Given the description of an element on the screen output the (x, y) to click on. 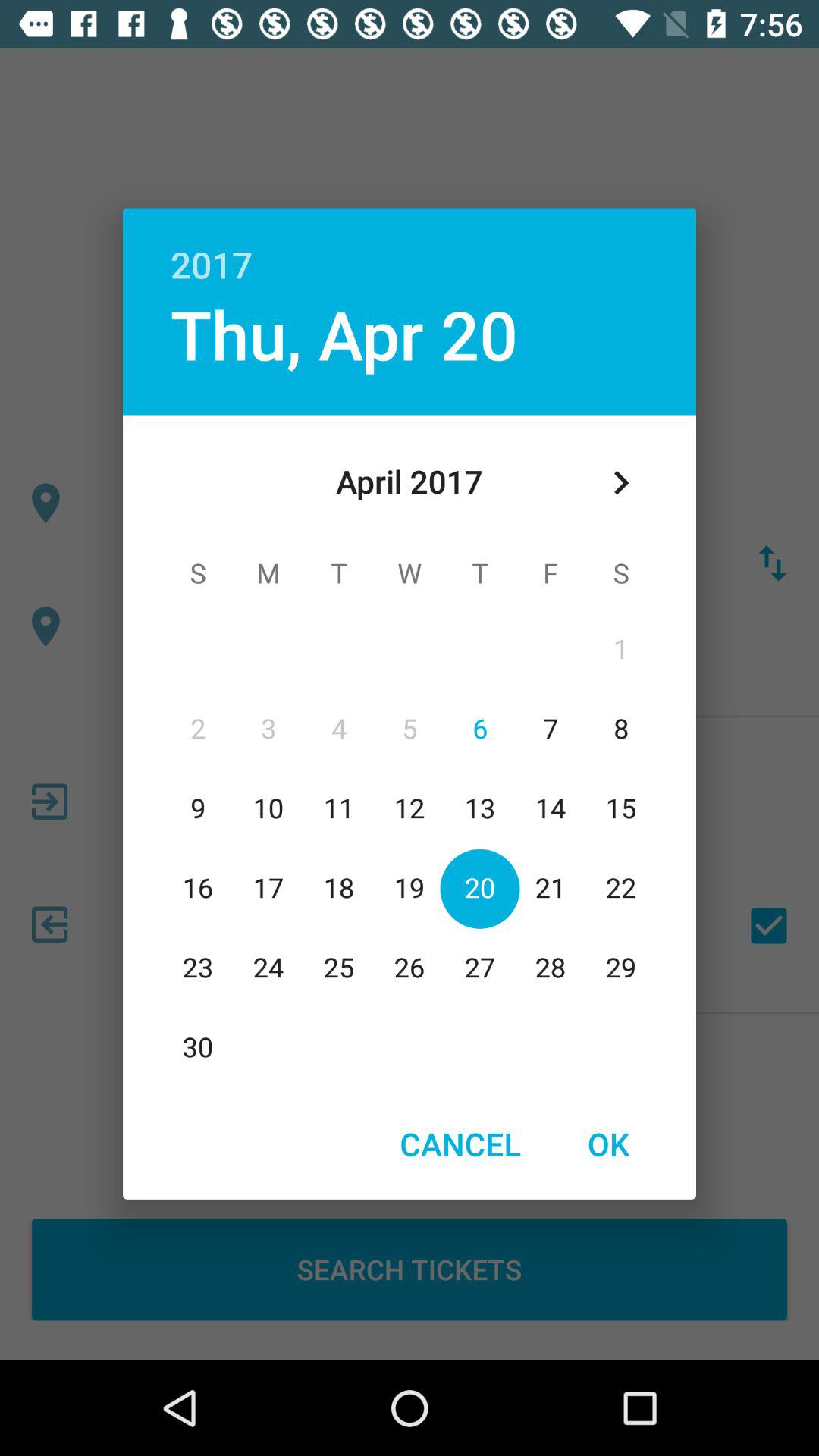
select icon above ok (620, 482)
